Given the description of an element on the screen output the (x, y) to click on. 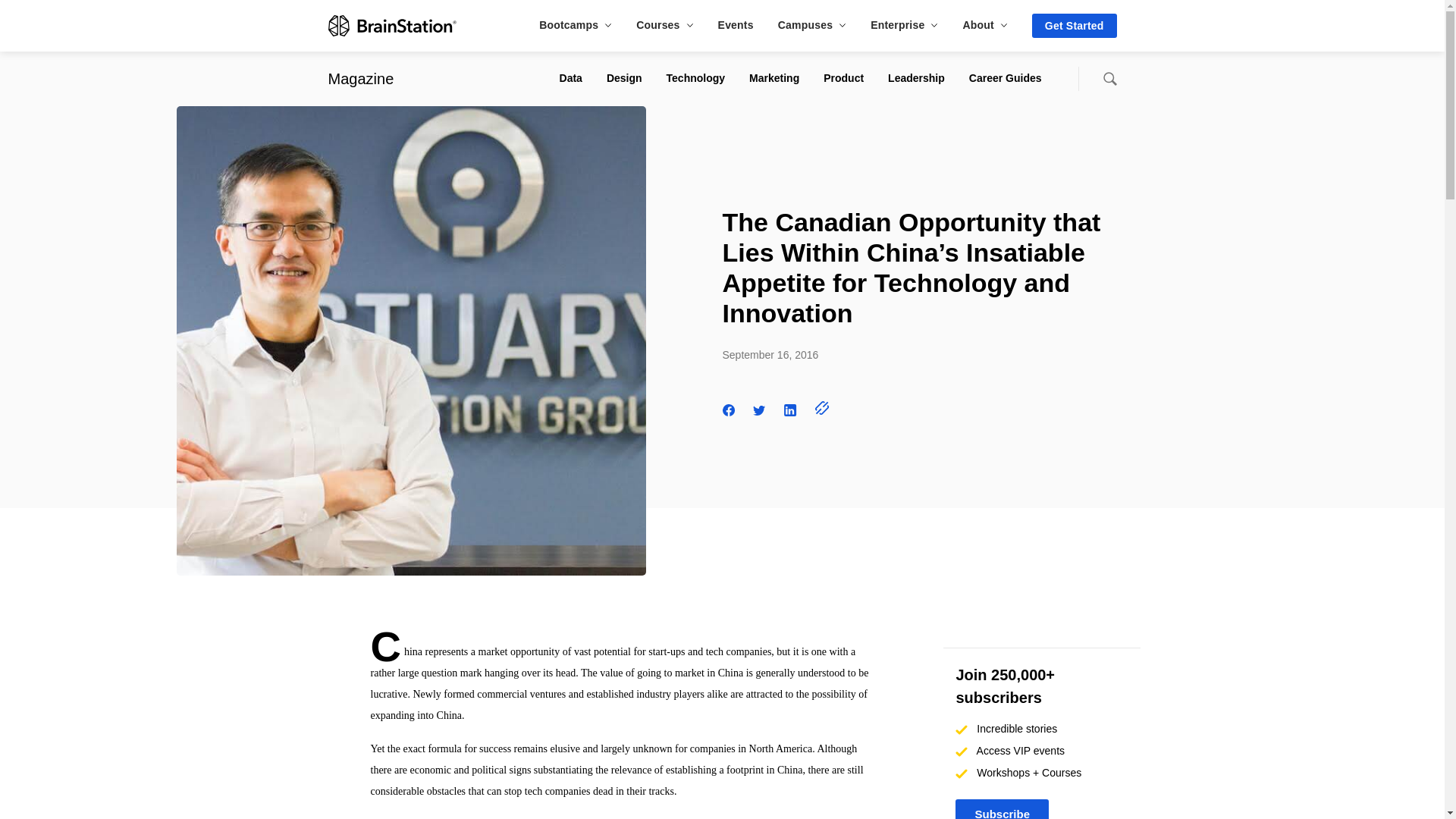
Search (1109, 78)
Events (735, 24)
About (984, 24)
Campuses (811, 24)
BrainStation Magazine (360, 78)
Bootcamps (574, 24)
Courses (664, 24)
Enterprise (903, 24)
